Given the description of an element on the screen output the (x, y) to click on. 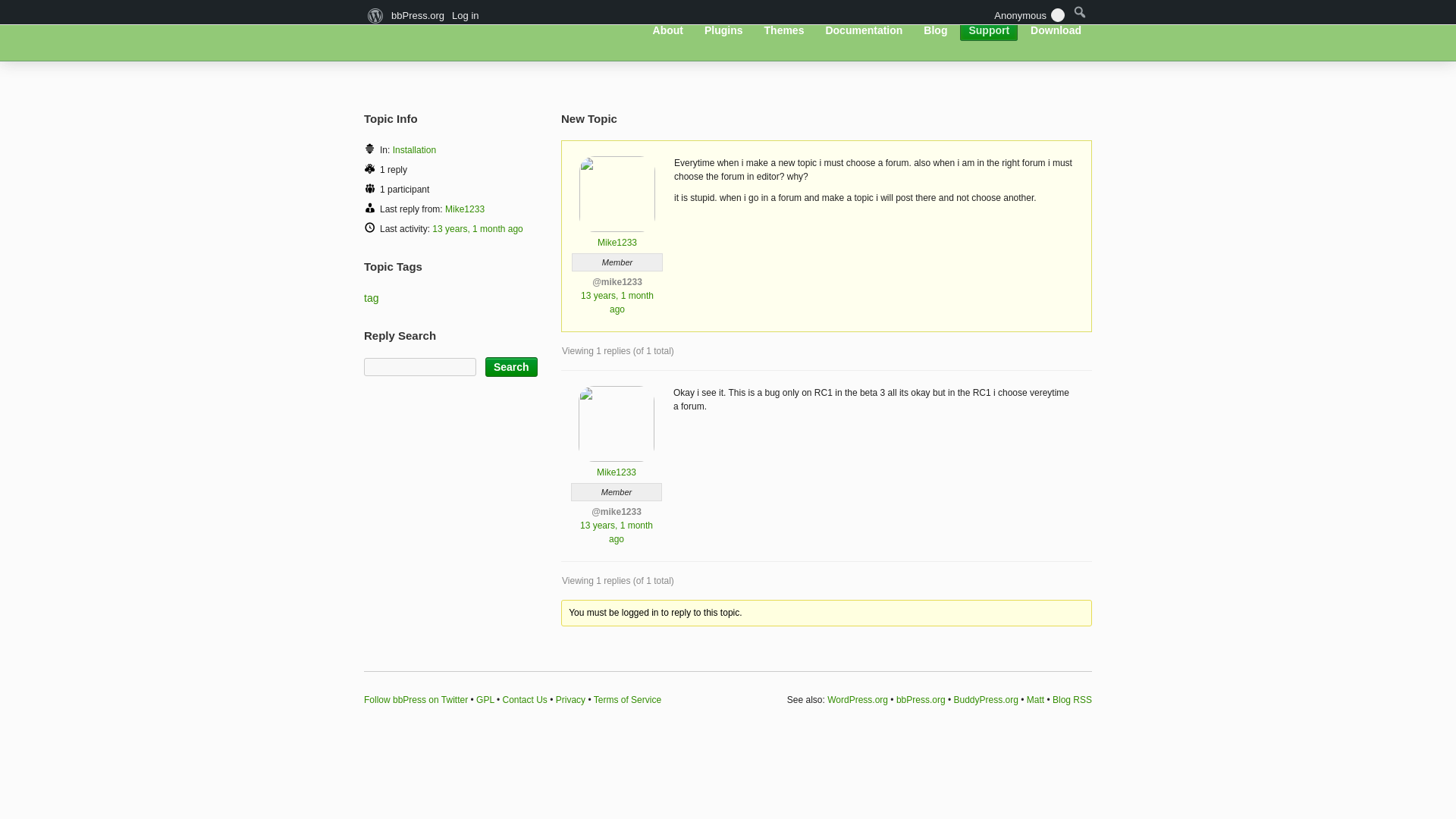
bbPress.org (447, 29)
13 years, 1 month ago (477, 228)
Blog (935, 29)
Installation (414, 149)
13 years, 1 month ago (615, 532)
tag (371, 297)
Search (510, 366)
Download (1055, 29)
Plugins (723, 29)
About (668, 29)
